Given the description of an element on the screen output the (x, y) to click on. 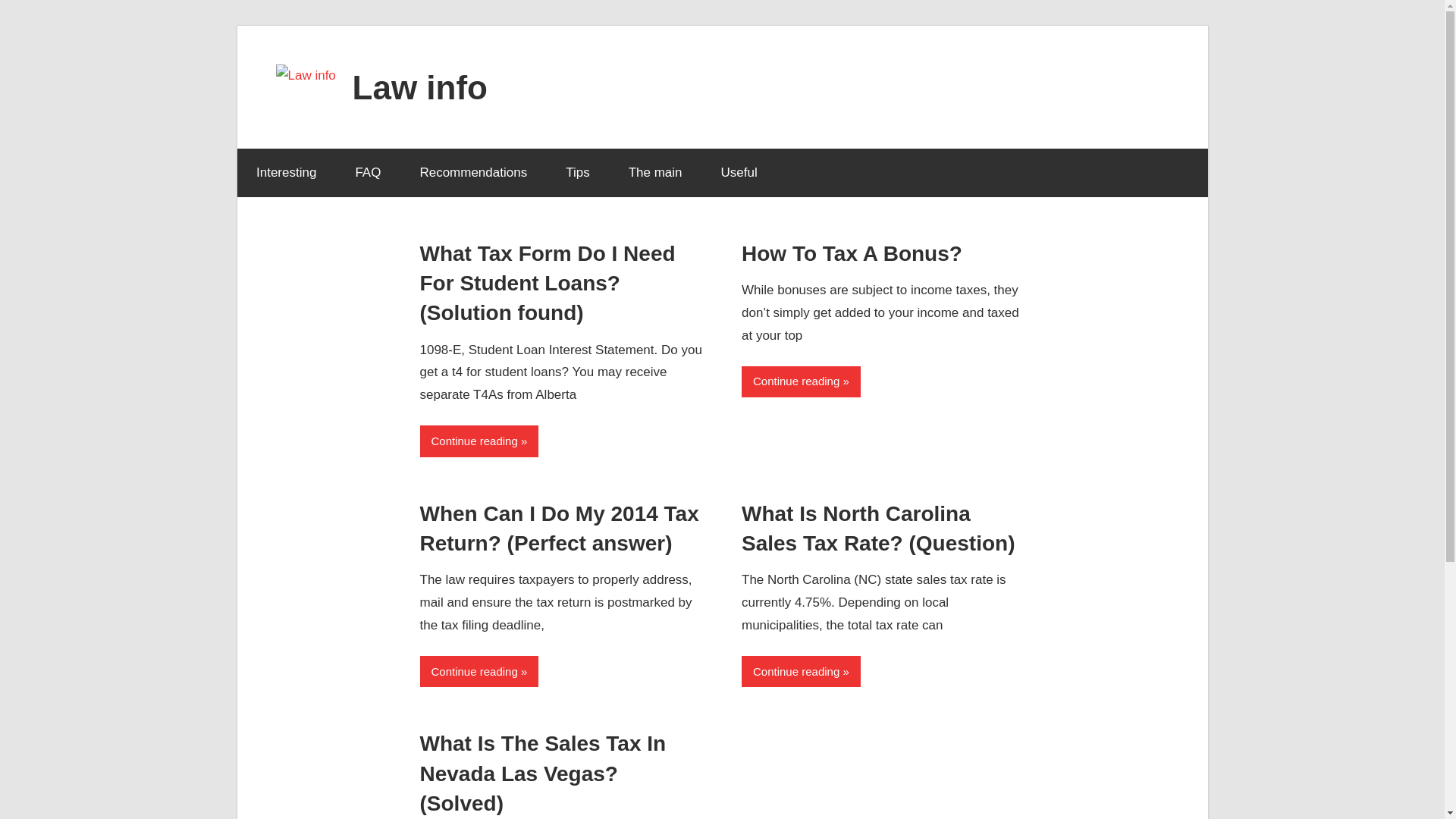
How To Tax A Bonus? (851, 253)
Continue reading (479, 440)
Recommendations (473, 172)
Continue reading (800, 671)
Tips (578, 172)
The main (654, 172)
Interesting (284, 172)
Law info (419, 86)
Continue reading (479, 671)
Continue reading (800, 381)
FAQ (368, 172)
Useful (738, 172)
